Given the description of an element on the screen output the (x, y) to click on. 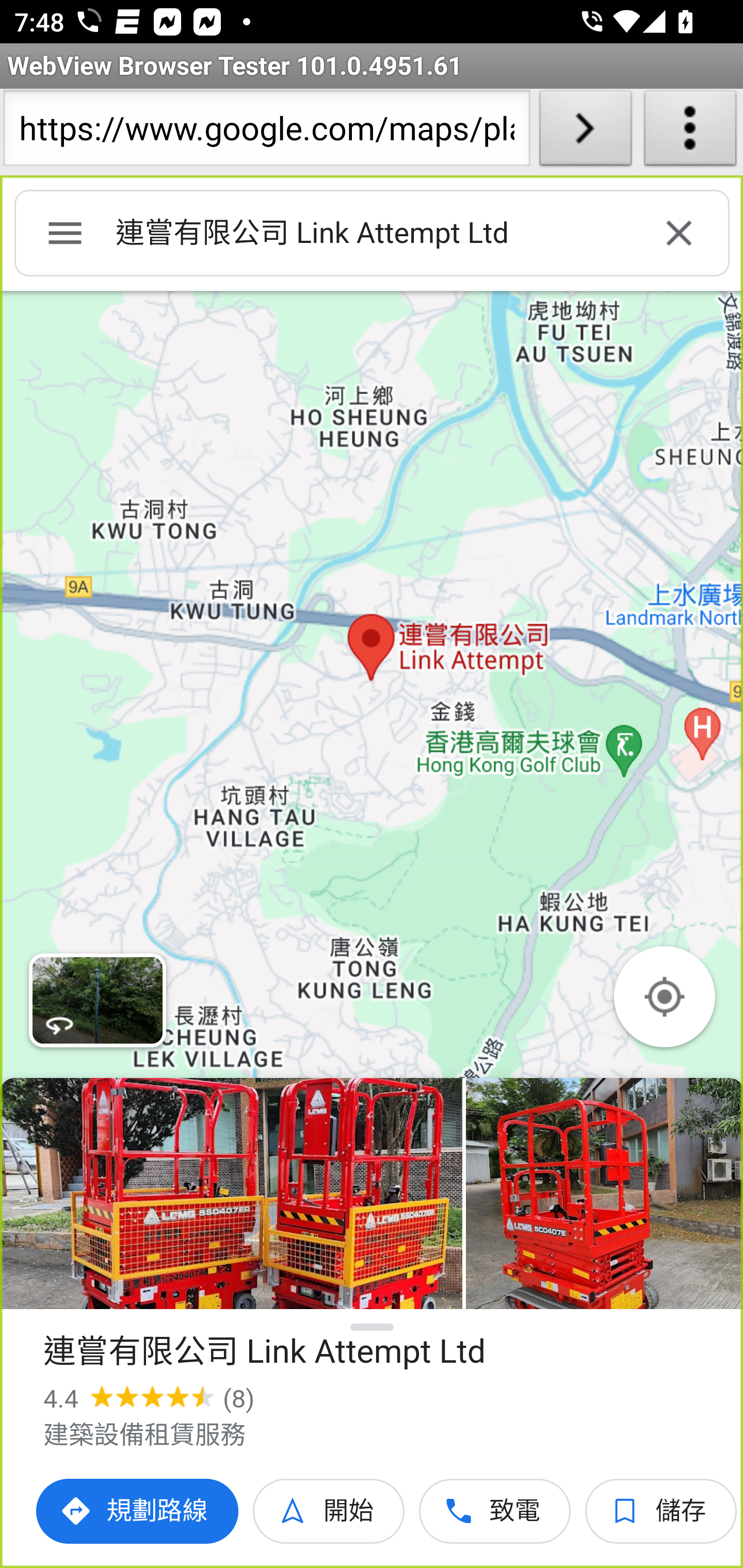
Load URL (585, 132)
About WebView (690, 132)
第 1 張相片 (共 9 張) (231, 1193)
第 2 張相片 (共 9 張) (604, 1193)
顯示詳細資料 (372, 1327)
前往連嘗有限公司 Link Attempt Ltd的路線 (137, 1511)
開始 (329, 1511)
致電「連嘗有限公司 Link Attempt Ltd」  致電 (495, 1511)
將「連嘗有限公司 Link Attempt Ltd」儲存至清單中 (661, 1511)
